Given the description of an element on the screen output the (x, y) to click on. 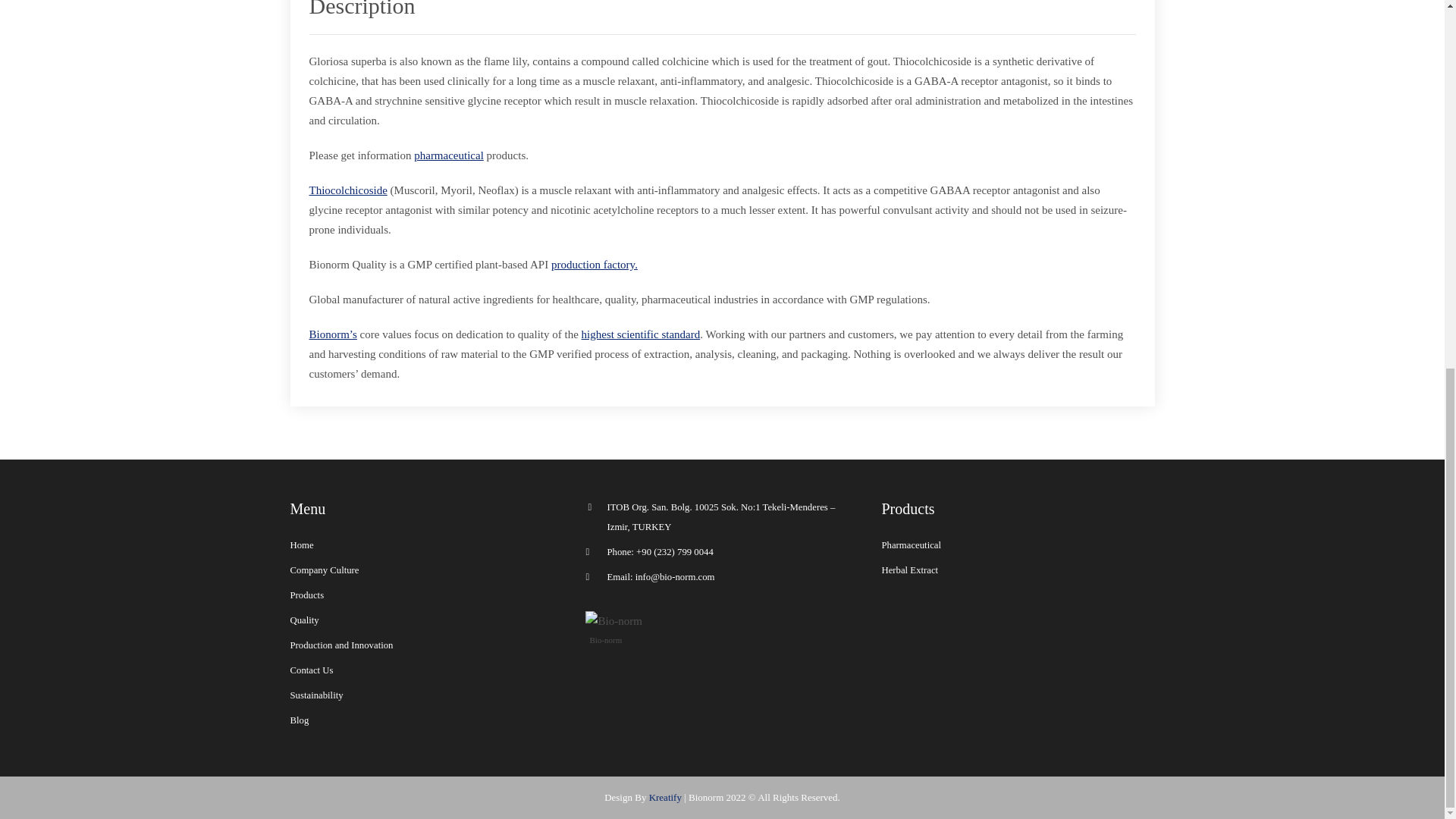
Thiocolchicoside (347, 190)
Pharmaceutical (910, 544)
Contact Us (311, 670)
Company Culture (323, 570)
Production and Innovation (341, 644)
Sustainability (315, 695)
Herbal Extract (908, 570)
Products (306, 594)
pharmaceutical (448, 155)
highest scientific standard (640, 334)
